Given the description of an element on the screen output the (x, y) to click on. 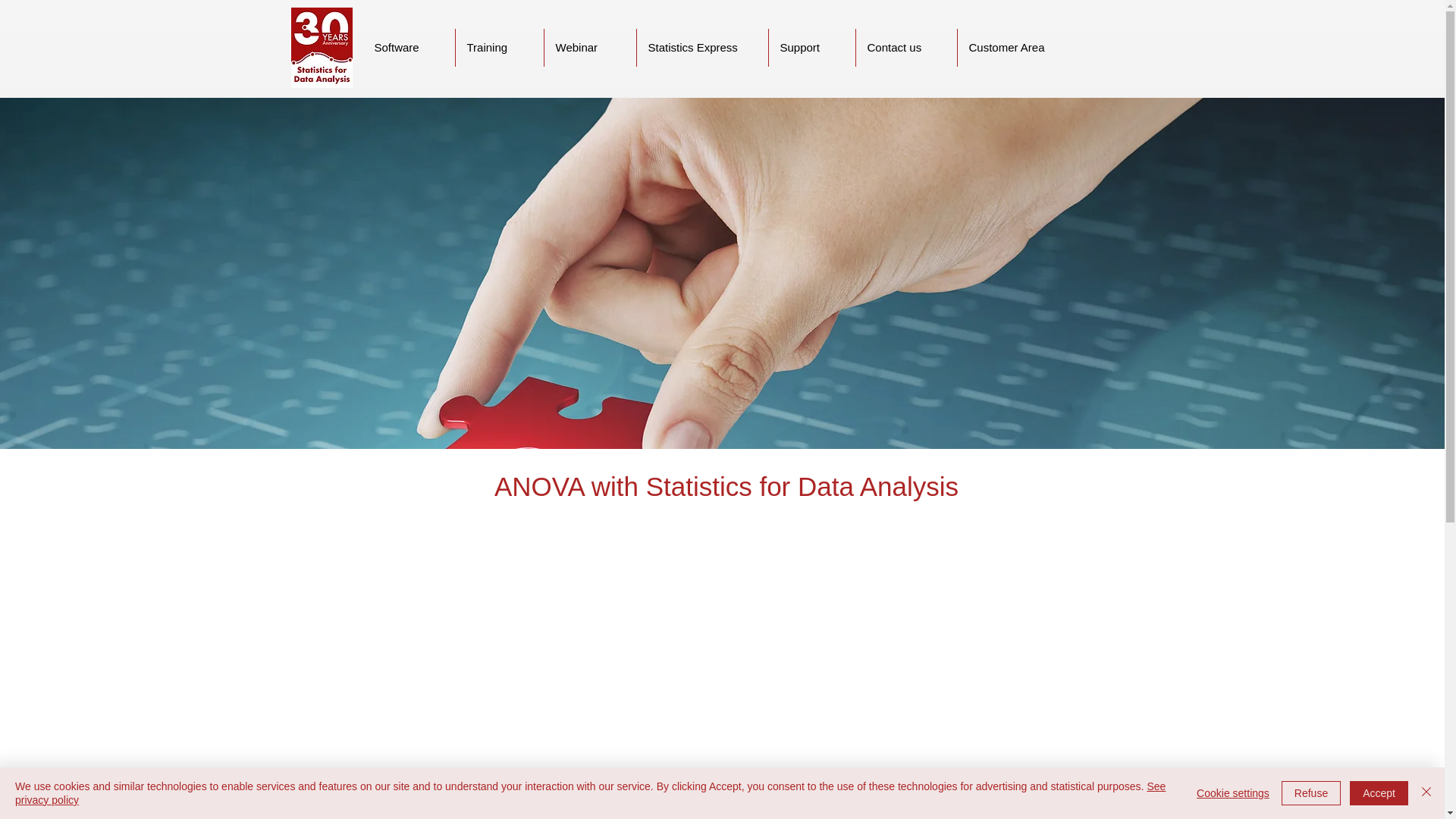
Contact us (906, 47)
Webinar (590, 47)
Training (498, 47)
Software (408, 47)
Customer Area (1018, 47)
See privacy policy (590, 792)
Refuse (1310, 793)
Accept (1378, 793)
Support (812, 47)
Statistics Express (702, 47)
